Given the description of an element on the screen output the (x, y) to click on. 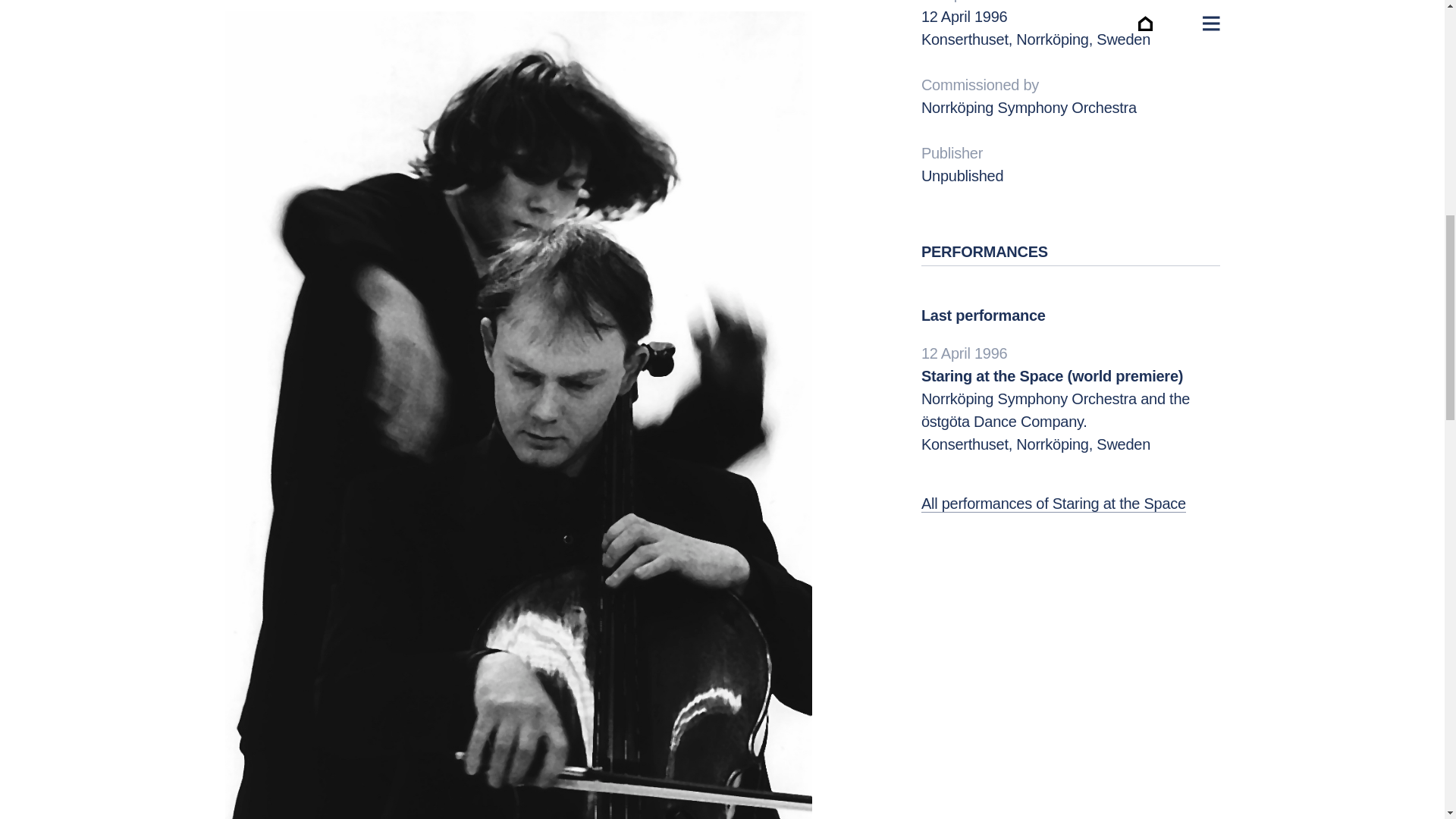
All performances of Staring at the Space (1053, 502)
